Given the description of an element on the screen output the (x, y) to click on. 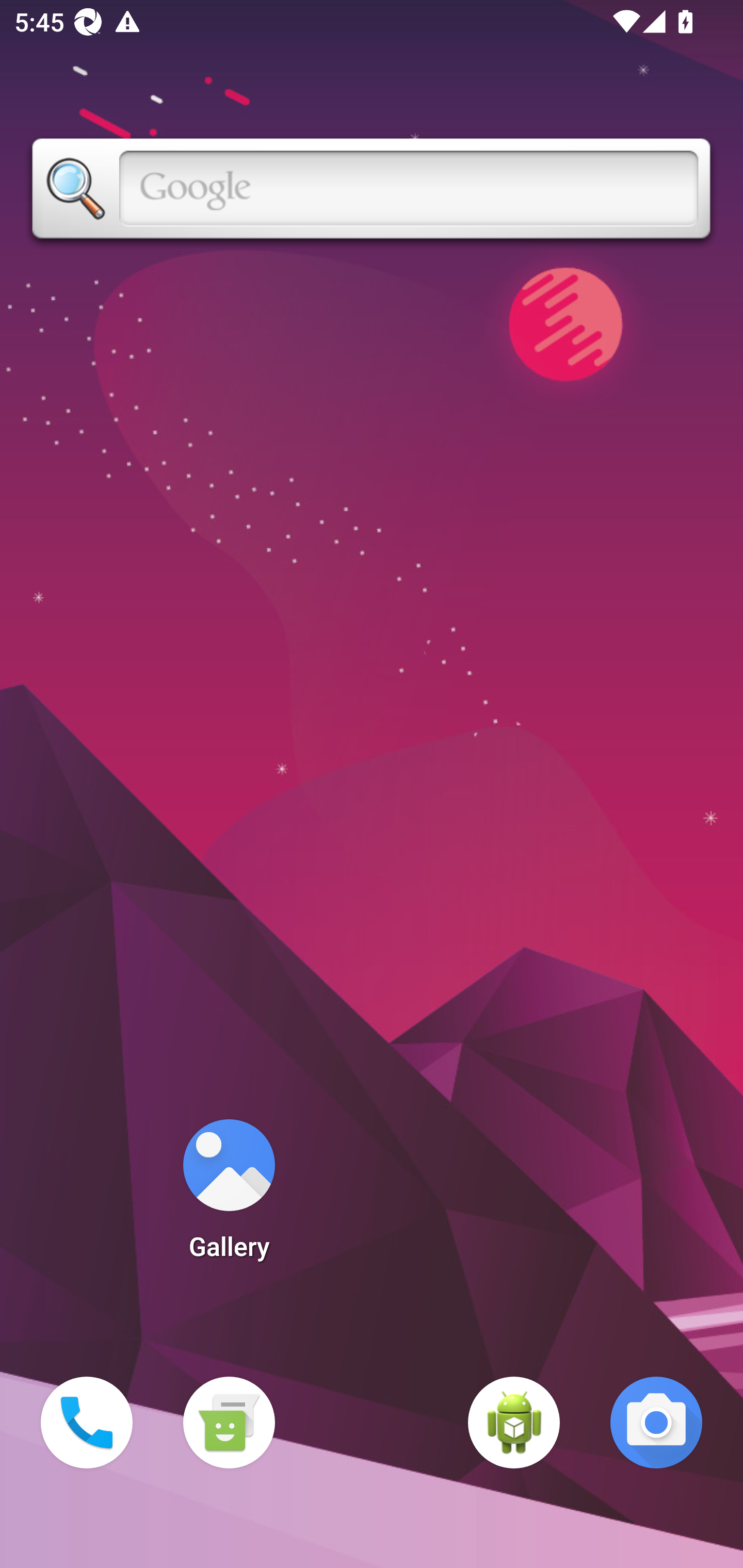
Gallery (228, 1195)
Phone (86, 1422)
Messaging (228, 1422)
WebView Browser Tester (513, 1422)
Camera (656, 1422)
